Given the description of an element on the screen output the (x, y) to click on. 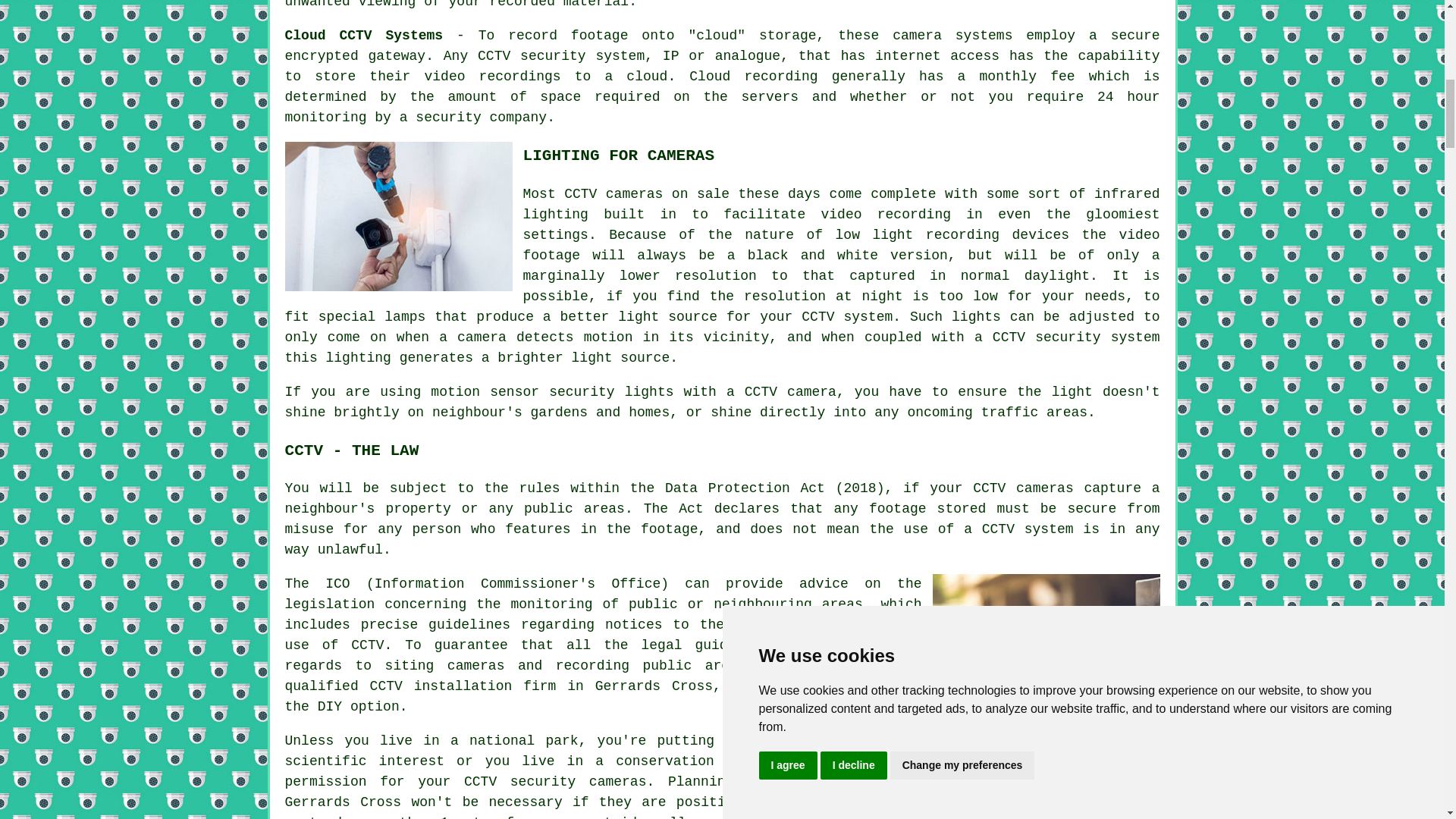
CCTV (494, 55)
CCTV system (1027, 529)
CCTV (480, 781)
CCTV Installation Near Gerrards Cross Buckinghamshire (1046, 648)
CCTV Installers Gerrards Cross Buckinghamshire (398, 216)
